Given the description of an element on the screen output the (x, y) to click on. 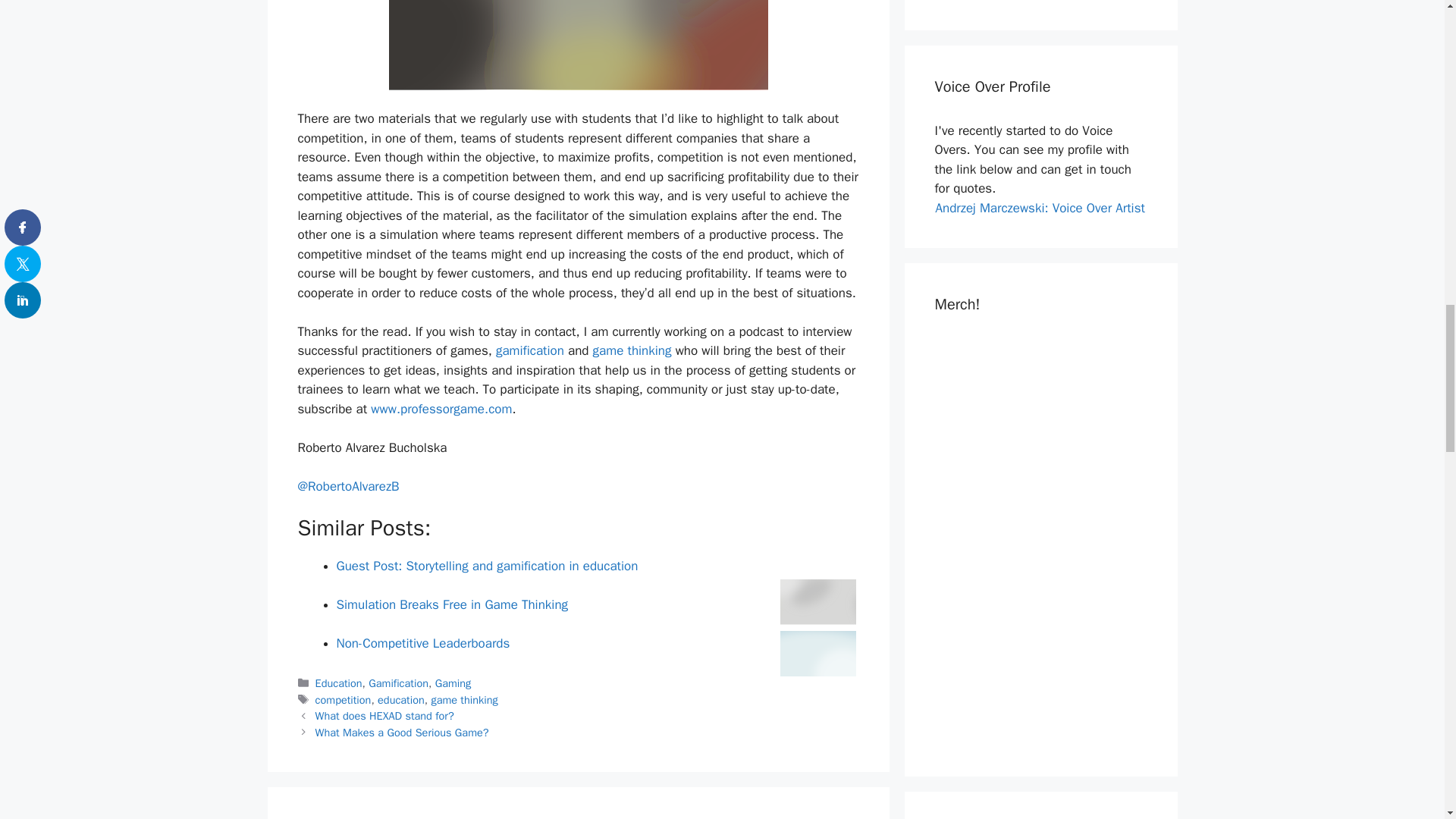
Guest Post Game Thinking in Business Education photo (577, 45)
Simulation Breaks Free in Game Thinking (452, 604)
Simulation Breaks Free in Game Thinking (452, 604)
Gaming (453, 683)
Non-Competitive Leaderboards (423, 643)
professorgame (442, 408)
gamification (530, 350)
com (499, 408)
Guest Post: Storytelling and gamification in education (487, 565)
Guest Post: Storytelling and gamification in education (487, 565)
gamification (530, 350)
Education (338, 683)
game thinking (631, 350)
www (383, 408)
Gamification (398, 683)
